Given the description of an element on the screen output the (x, y) to click on. 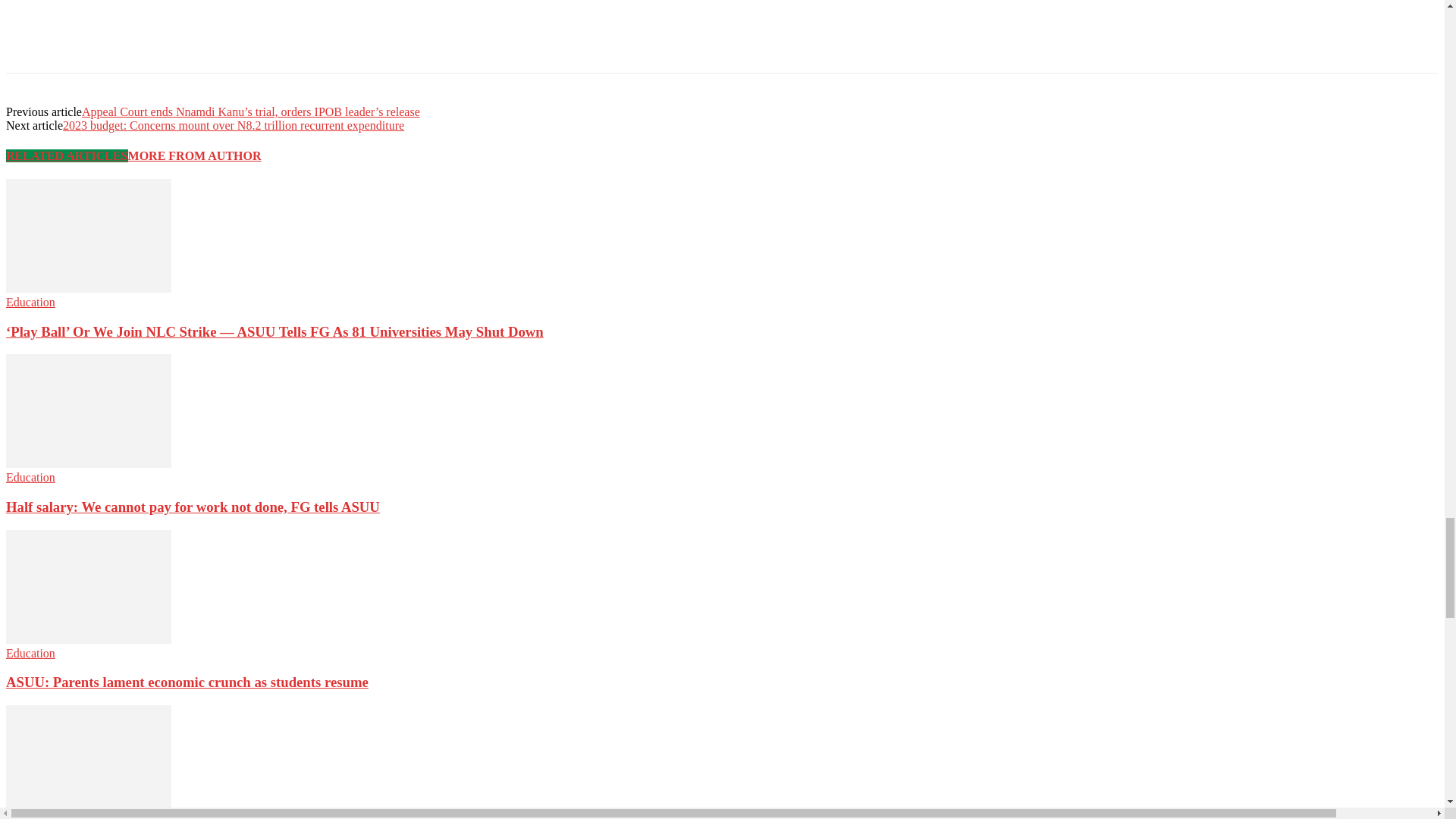
bottomFacebookLike (118, 7)
